Given the description of an element on the screen output the (x, y) to click on. 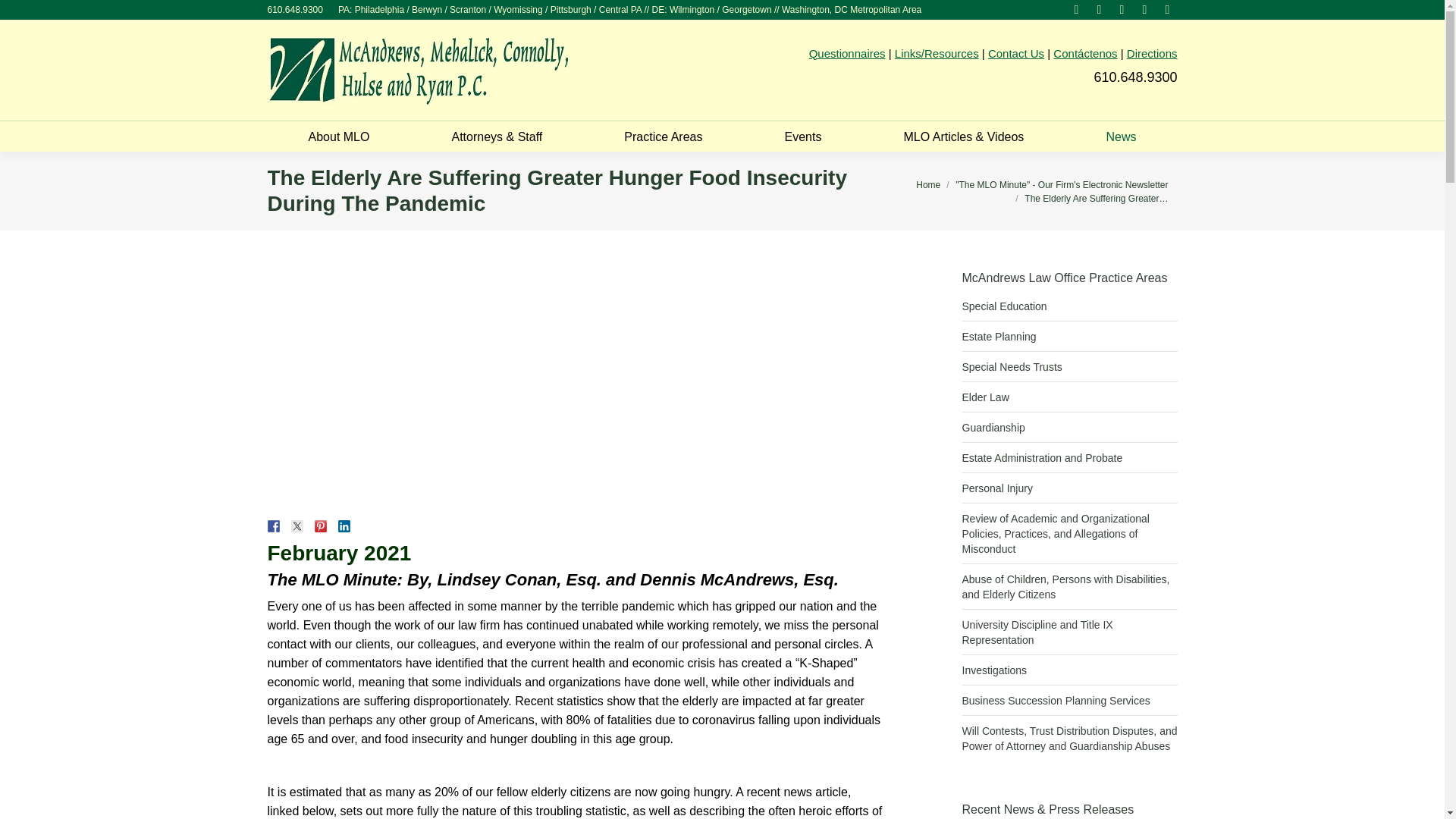
Linkedin (1121, 9)
About MLO (339, 135)
Facebook (1098, 9)
YouTube (1144, 9)
Instagram (1166, 9)
Linkedin (1121, 9)
Questionnaires (847, 52)
Pinterest (1075, 9)
Pinterest (1075, 9)
YouTube (1144, 9)
